Given the description of an element on the screen output the (x, y) to click on. 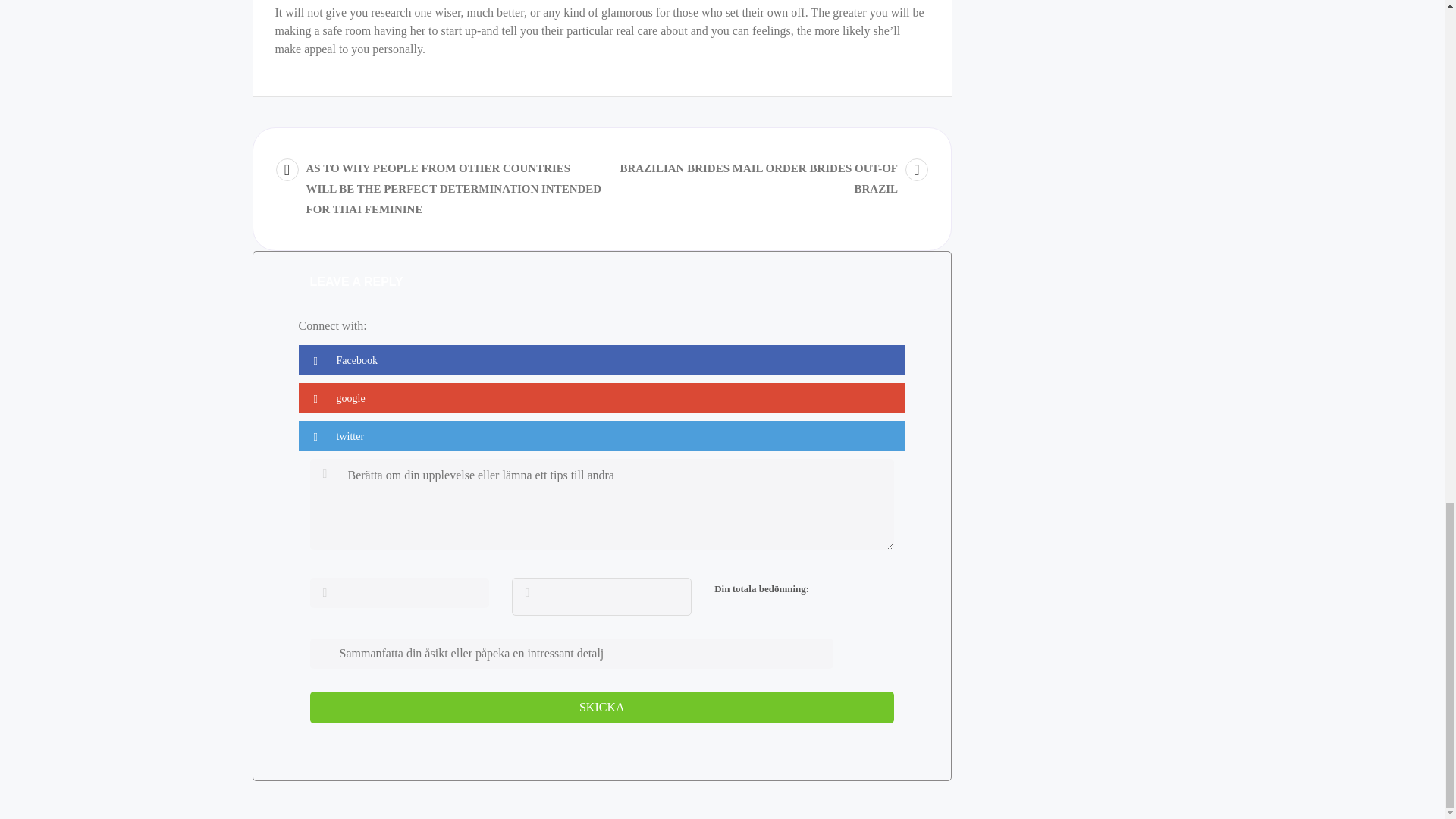
Connect with Facebook (601, 359)
Skicka (600, 707)
Skicka (600, 707)
Connect with Google (601, 398)
Connect with Twitter (601, 435)
